Given the description of an element on the screen output the (x, y) to click on. 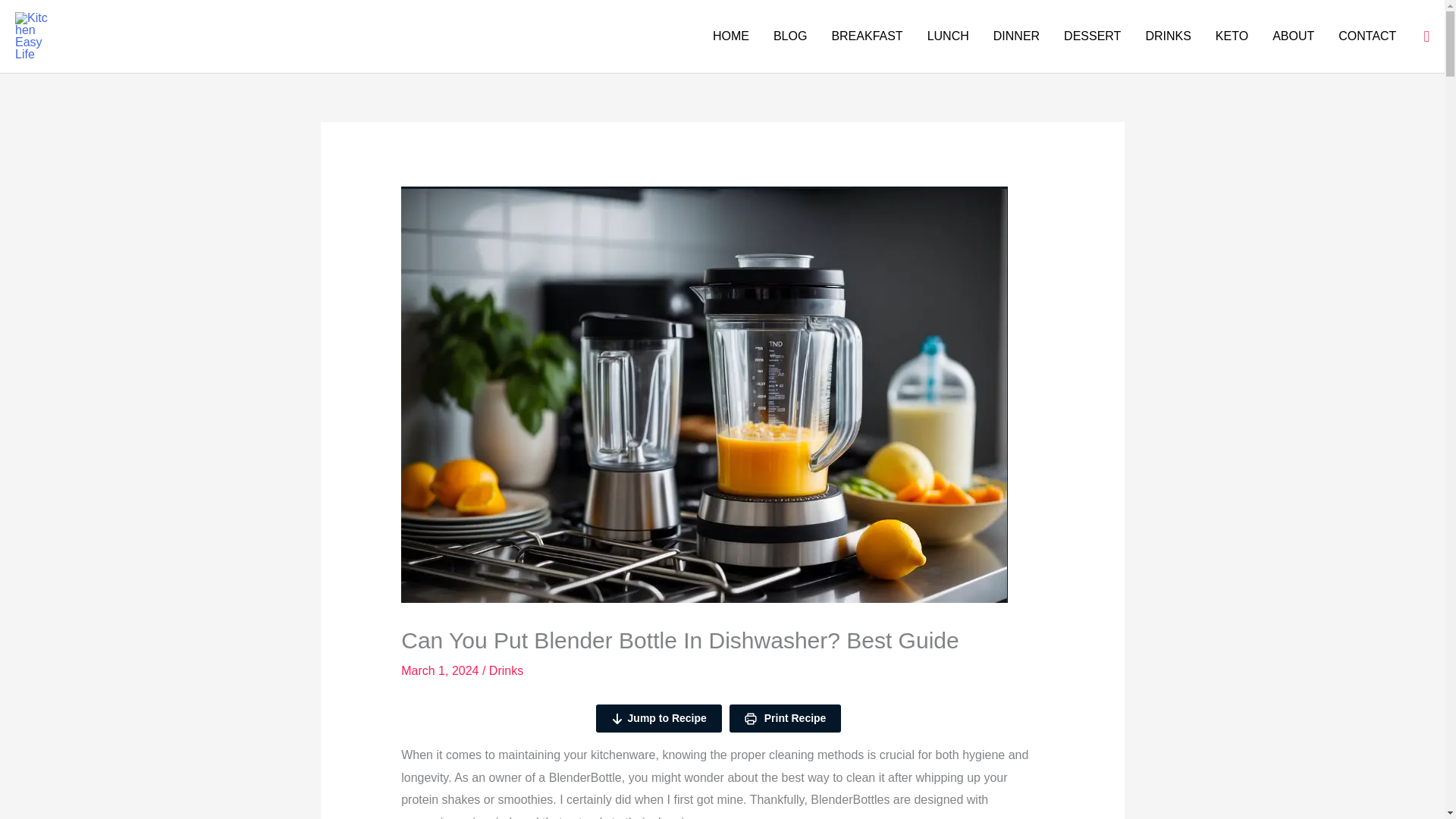
HOME (730, 36)
KETO (1232, 36)
DINNER (1016, 36)
Search (1426, 36)
BREAKFAST (866, 36)
DESSERT (1091, 36)
LUNCH (948, 36)
CONTACT (1366, 36)
Drinks (505, 670)
Jump to Recipe (658, 718)
Print Recipe (785, 718)
BLOG (789, 36)
ABOUT (1293, 36)
DRINKS (1167, 36)
